Given the description of an element on the screen output the (x, y) to click on. 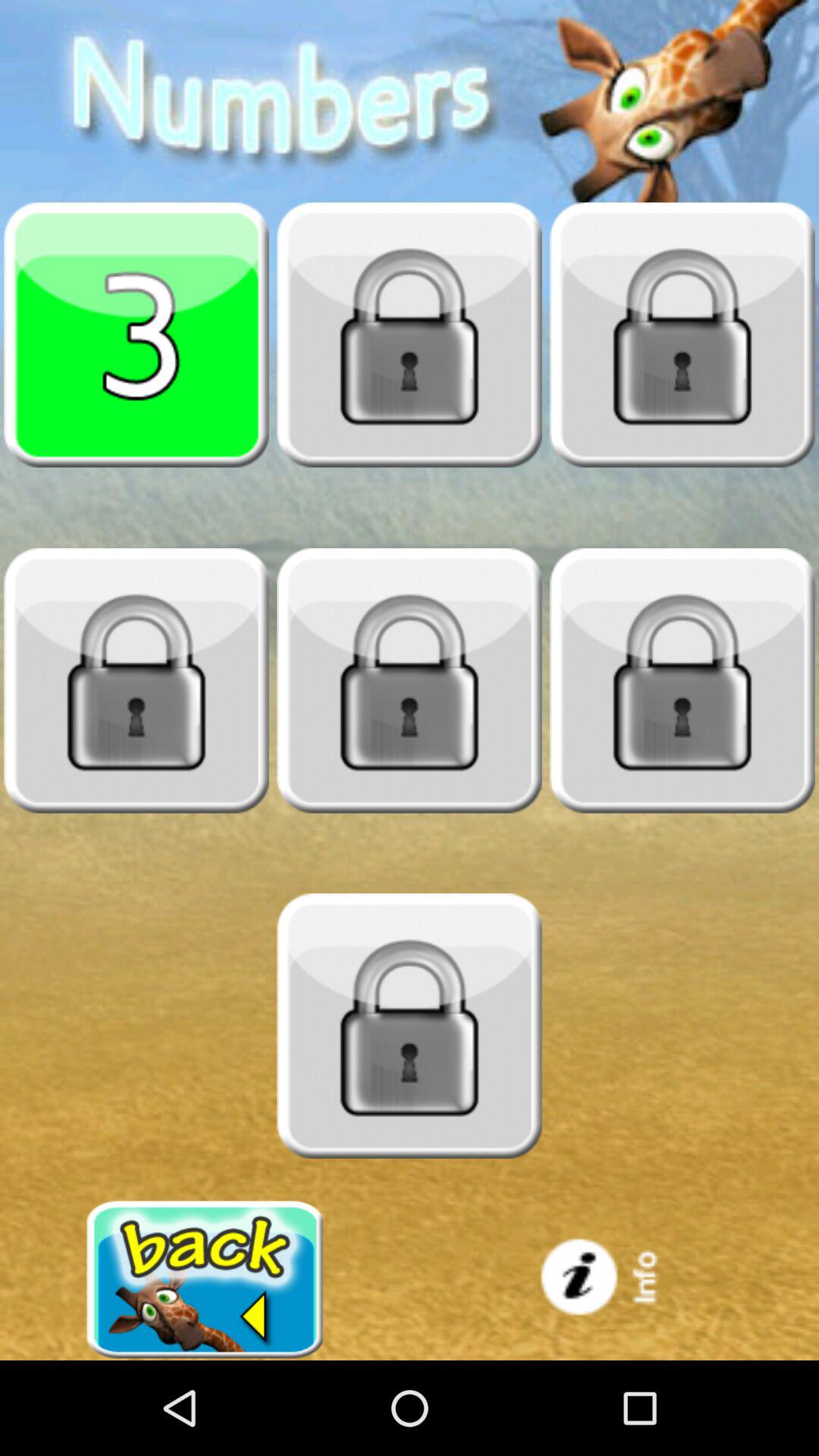
unlock another number (682, 680)
